Given the description of an element on the screen output the (x, y) to click on. 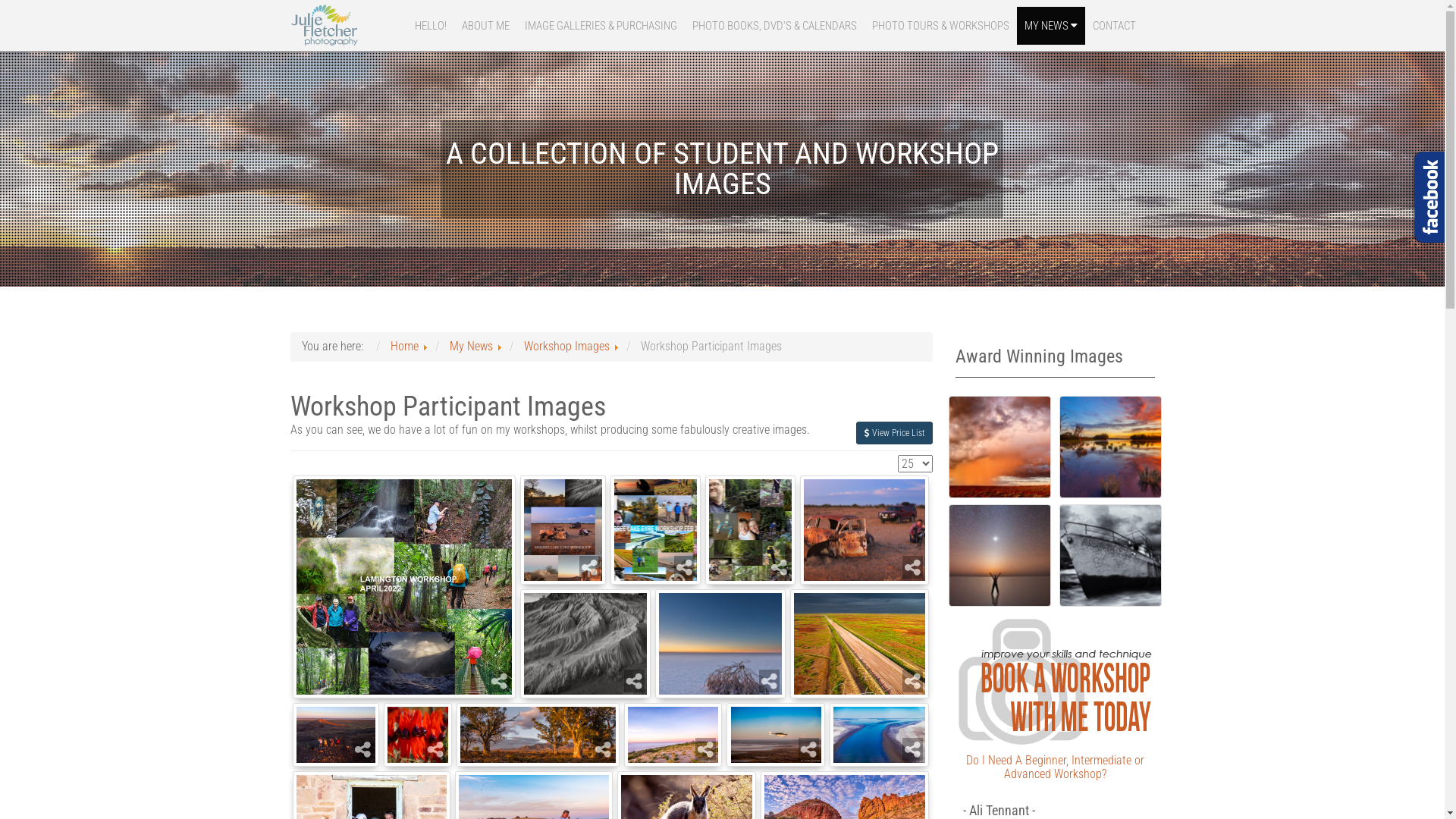
Lake Eyre Photo Tour April 2016 Element type: hover (775, 734)
Flinders Ranges South Australia Photo Tour May 2018 Element type: hover (537, 734)
Share Element type: hover (808, 748)
MY NEWS Element type: text (1050, 25)
IMAGE GALLERIES & PURCHASING Element type: text (600, 25)
Lake Eyre Photo Tour April 2016 Element type: hover (335, 734)
PHOTO TOURS & WORKSHOPS Element type: text (940, 25)
Lake Eyre Photo Tour April 2016 Element type: hover (672, 734)
Marree Lake Eyre Workshop April 2018 Element type: hover (864, 529)
ABOUT ME Element type: text (484, 25)
Marree Lake Eyre workshop 2022 Element type: hover (859, 643)
Marree Lake Eyre Workshop April 2018 Element type: hover (563, 529)
Share Element type: hover (778, 566)
Share Element type: hover (912, 748)
Marree Lake Eyre Workshop April 2018 Element type: hover (720, 643)
Share Element type: hover (435, 748)
Lamington Workshop April 2018 Element type: hover (750, 529)
Share Element type: hover (912, 680)
Lake Eyre Photo Tour April 2016 Element type: hover (879, 734)
CONTACT Element type: text (1113, 25)
Share Element type: hover (769, 680)
PHOTO BOOKS, DVD'S & CALENDARS Element type: text (773, 25)
Home Element type: text (403, 345)
Workshop Images Element type: text (565, 345)
Do I Need A Beginner, Intermediate or Advanced Workshop? Element type: text (1055, 767)
Lamington workshop April 2022 Element type: hover (403, 586)
Share Element type: hover (498, 680)
Share Element type: hover (589, 566)
Share Element type: hover (912, 566)
Share Element type: hover (603, 748)
Marree Lake Eyre Workshop April 2018 Element type: hover (585, 643)
Share Element type: hover (634, 680)
Marree Lake Eyre workshop August 2017 Element type: hover (417, 734)
Share Element type: hover (362, 748)
My News Element type: text (470, 345)
View Price List Element type: text (894, 432)
Marree Lake Eyre workshop February 2022 Element type: hover (655, 529)
Share Element type: hover (684, 566)
Share Element type: hover (705, 748)
HELLO! Element type: text (429, 25)
